Given the description of an element on the screen output the (x, y) to click on. 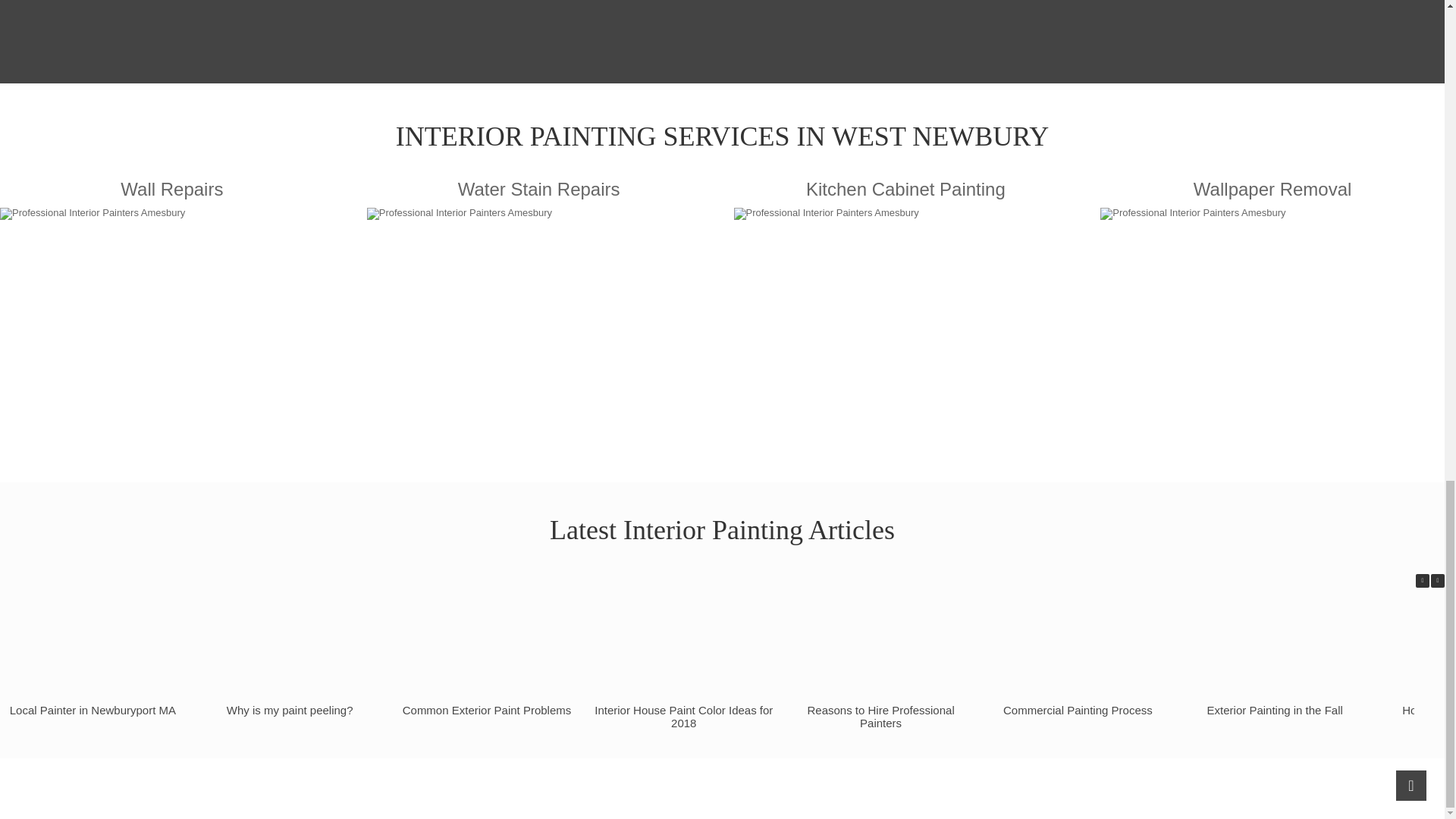
Why is my paint peeling? (290, 709)
Local Painter in Newburyport MA (93, 709)
Water Stain Repairs  (538, 321)
Wall Repairs  (171, 322)
Kitchen Cabinet Painting (905, 322)
Common Exterior Paint Problems (487, 709)
Previous (1422, 581)
Interior House Paint Color Ideas for 2018 (683, 716)
